Given the description of an element on the screen output the (x, y) to click on. 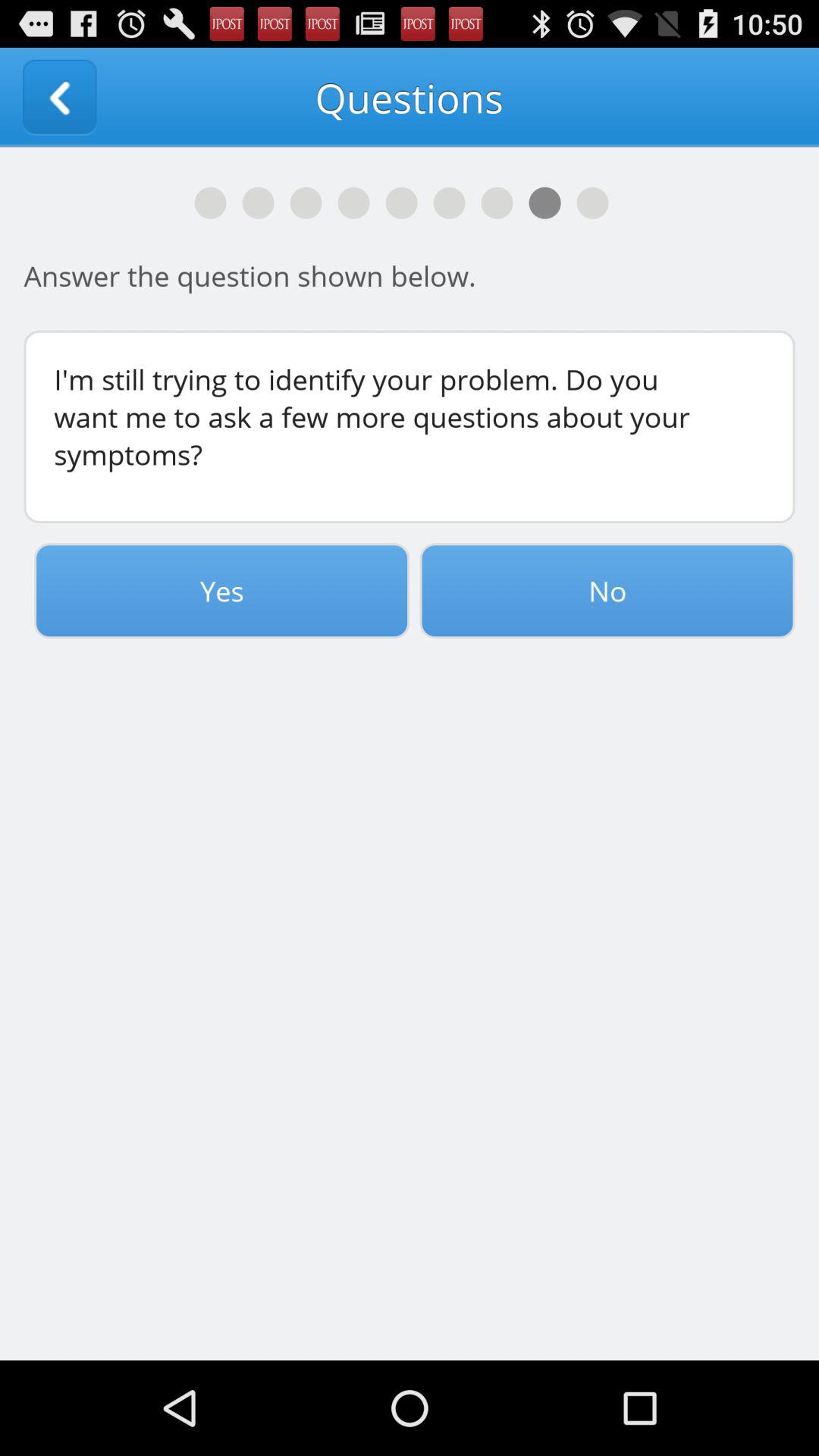
press yes icon (221, 590)
